Given the description of an element on the screen output the (x, y) to click on. 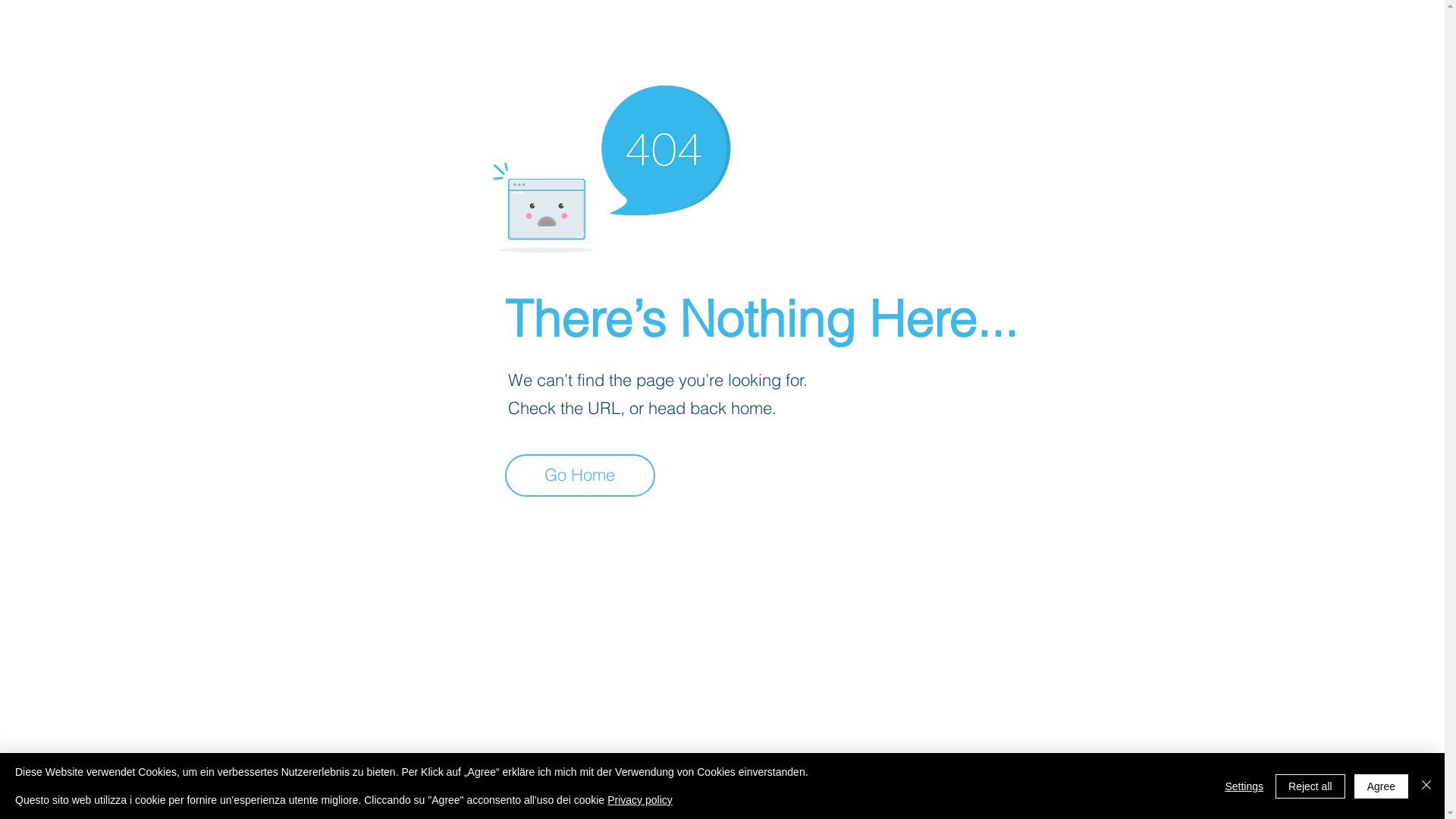
Agree Element type: text (1381, 786)
Privacy policy Element type: text (639, 799)
Go Home Element type: text (580, 475)
Reject all Element type: text (1310, 786)
404-icon_2.png Element type: hover (610, 164)
